Given the description of an element on the screen output the (x, y) to click on. 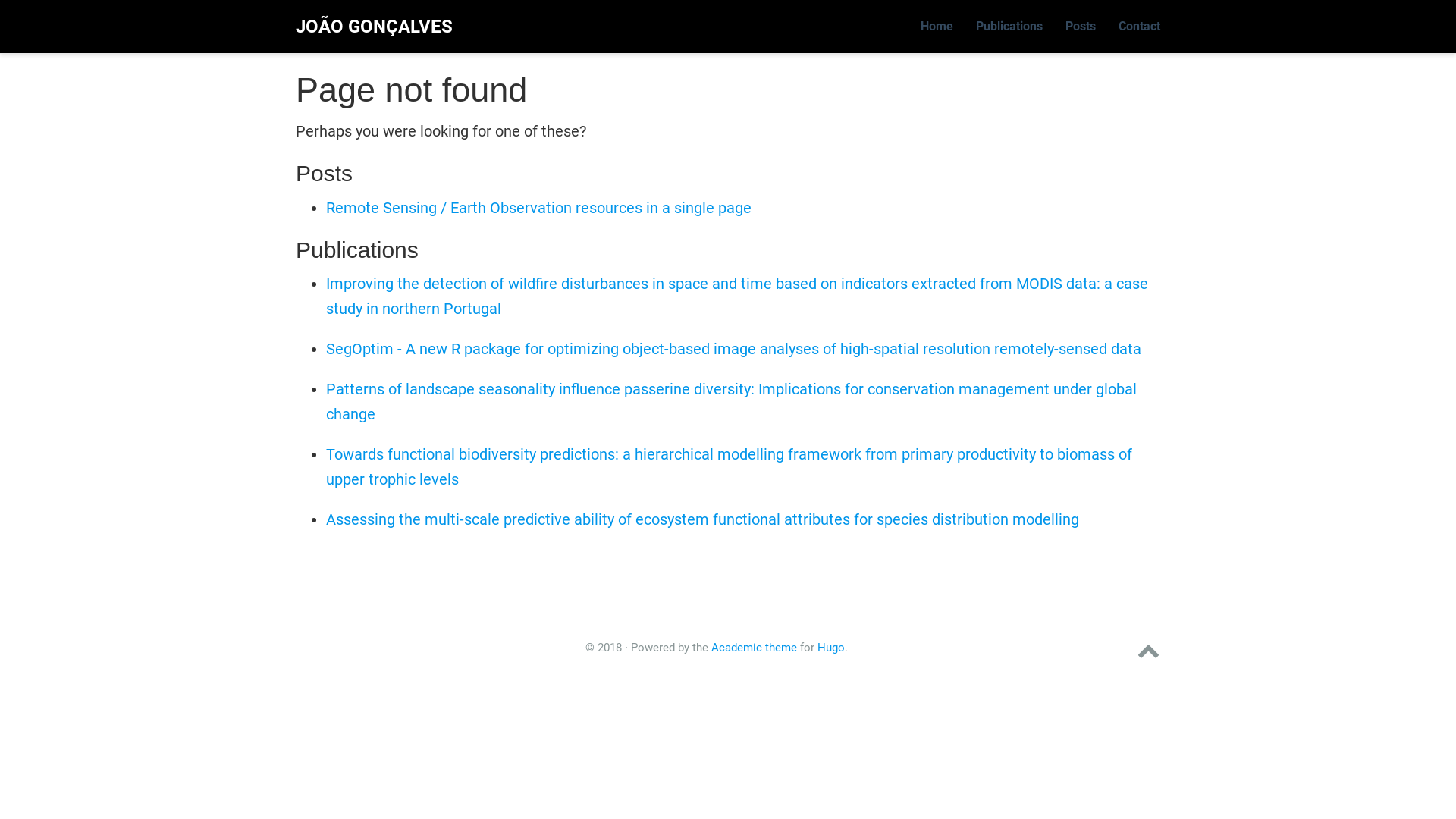
Academic theme Element type: text (754, 647)
Publications Element type: text (1009, 26)
Contact Element type: text (1139, 26)
Hugo Element type: text (830, 647)
Posts Element type: text (1080, 26)
Home Element type: text (936, 26)
